Given the description of an element on the screen output the (x, y) to click on. 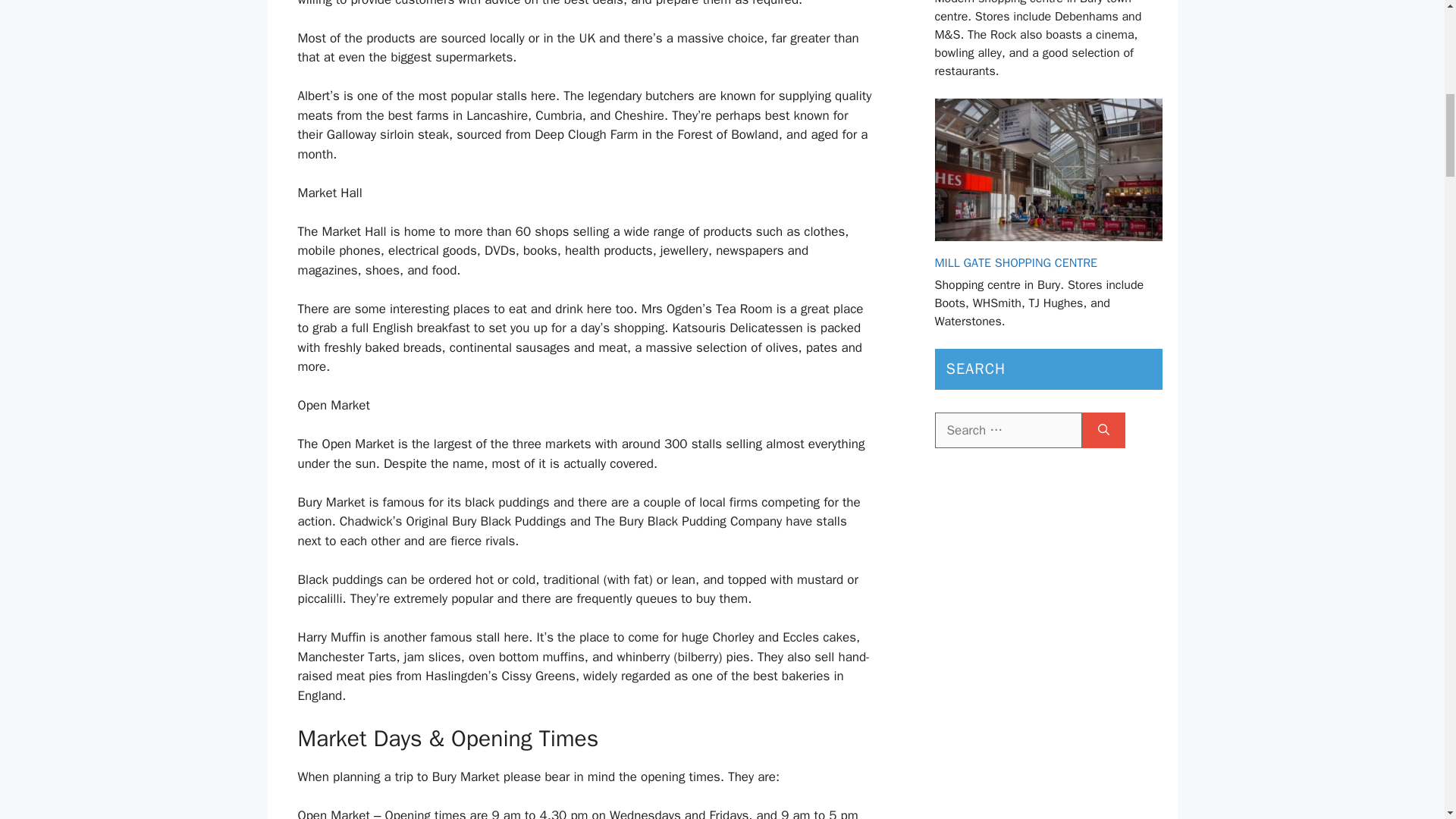
Search for: (1007, 430)
